Given the description of an element on the screen output the (x, y) to click on. 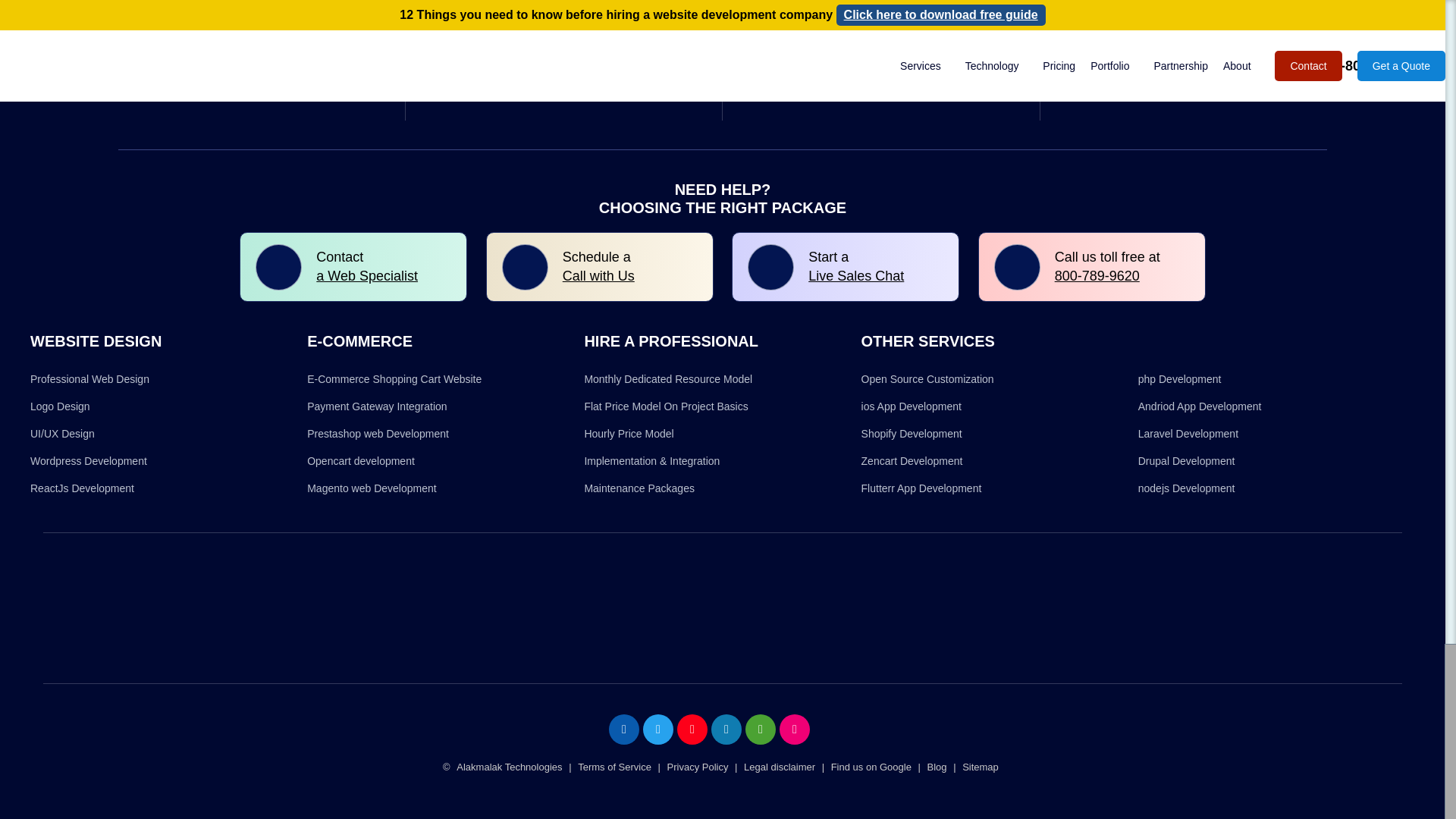
Logo Design (60, 406)
Ecommerce Shopping Cart Website (394, 378)
Payment Gateway Integration (376, 406)
ReactJs Development (81, 488)
Wordpress Development (88, 460)
Professional Web Design (89, 378)
